Given the description of an element on the screen output the (x, y) to click on. 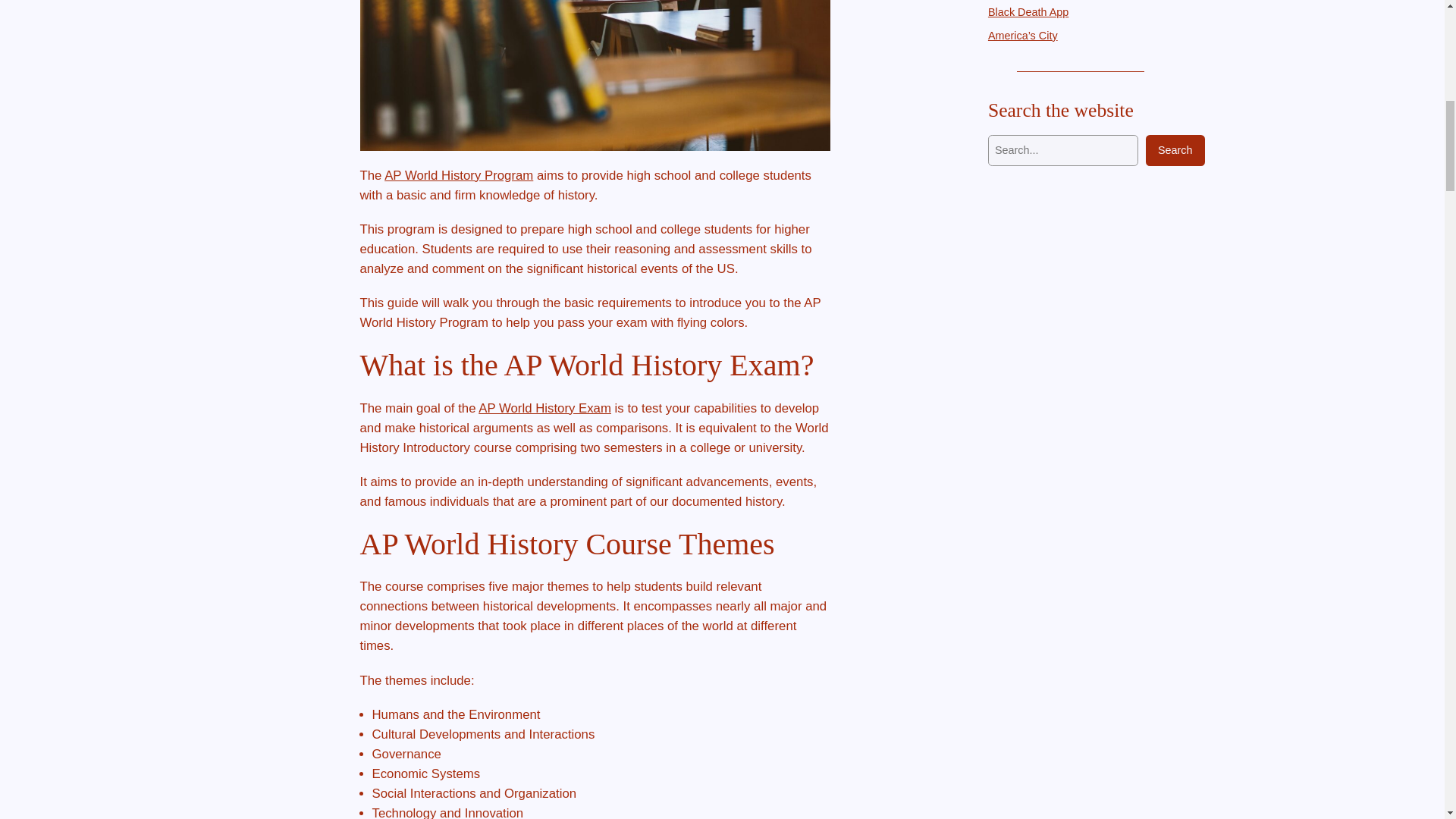
Search (1175, 151)
Black Death App (1028, 12)
AP World History Exam (545, 408)
AP World History Program (458, 175)
